Given the description of an element on the screen output the (x, y) to click on. 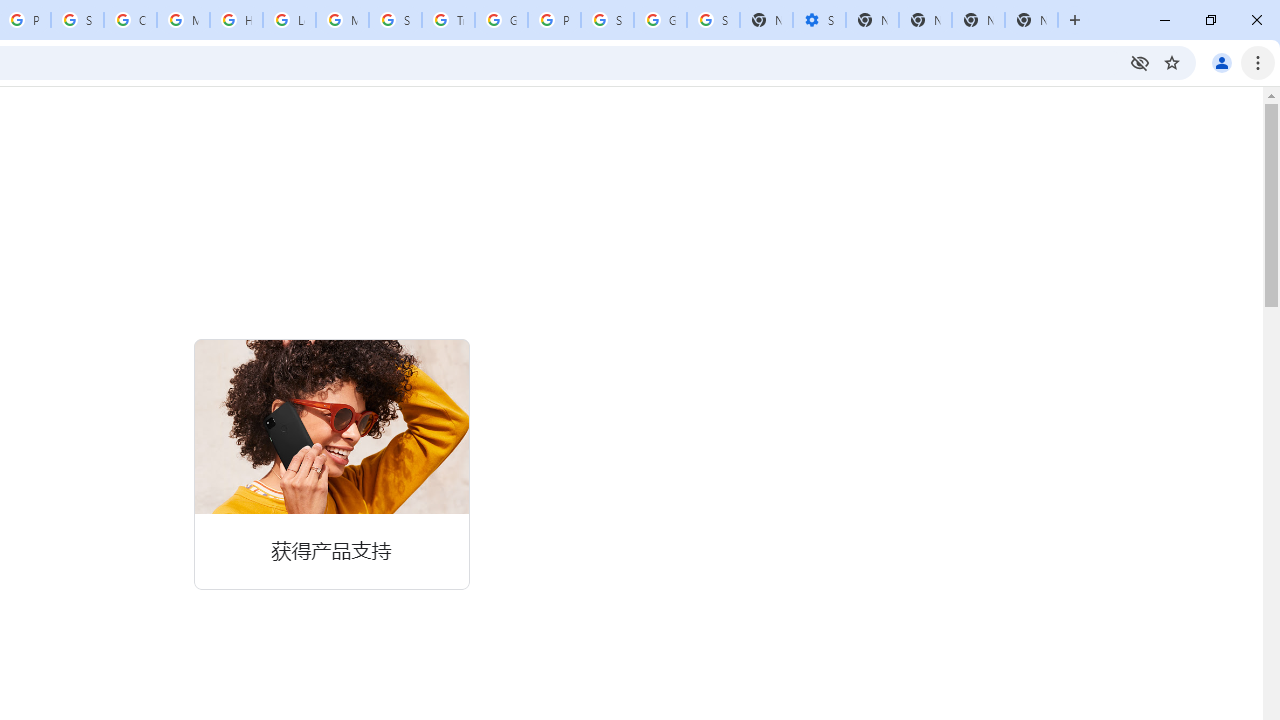
Sign in - Google Accounts (607, 20)
Settings - Performance (819, 20)
New Tab (1031, 20)
Search our Doodle Library Collection - Google Doodles (395, 20)
